Given the description of an element on the screen output the (x, y) to click on. 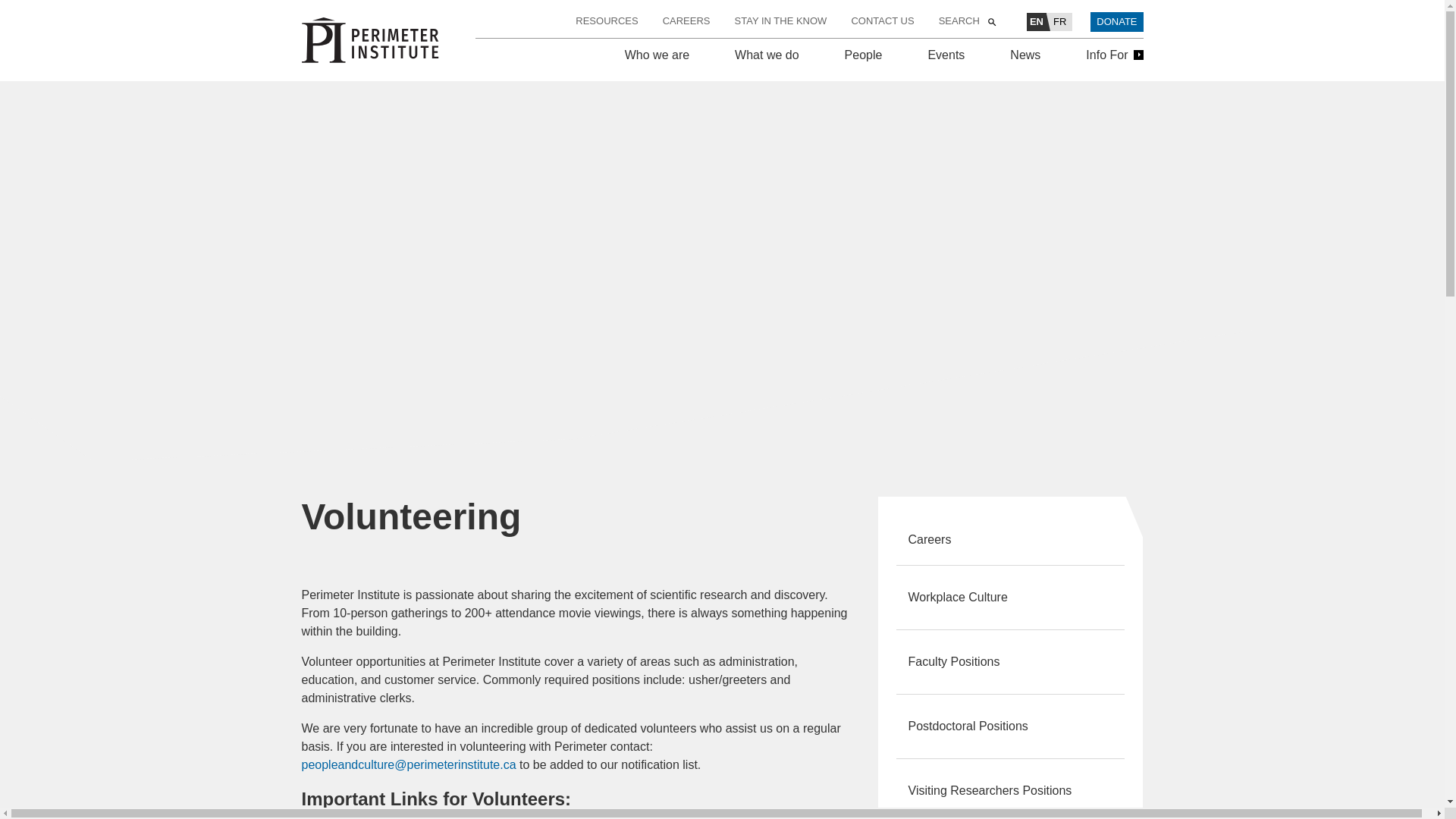
People (863, 54)
Dropdown Toggle (656, 69)
Info For (1111, 54)
Dropdown Toggle (767, 69)
Events (946, 54)
What we do (767, 54)
Dropdown Toggle (946, 69)
Who we are (656, 54)
What we do (767, 54)
